Given the description of an element on the screen output the (x, y) to click on. 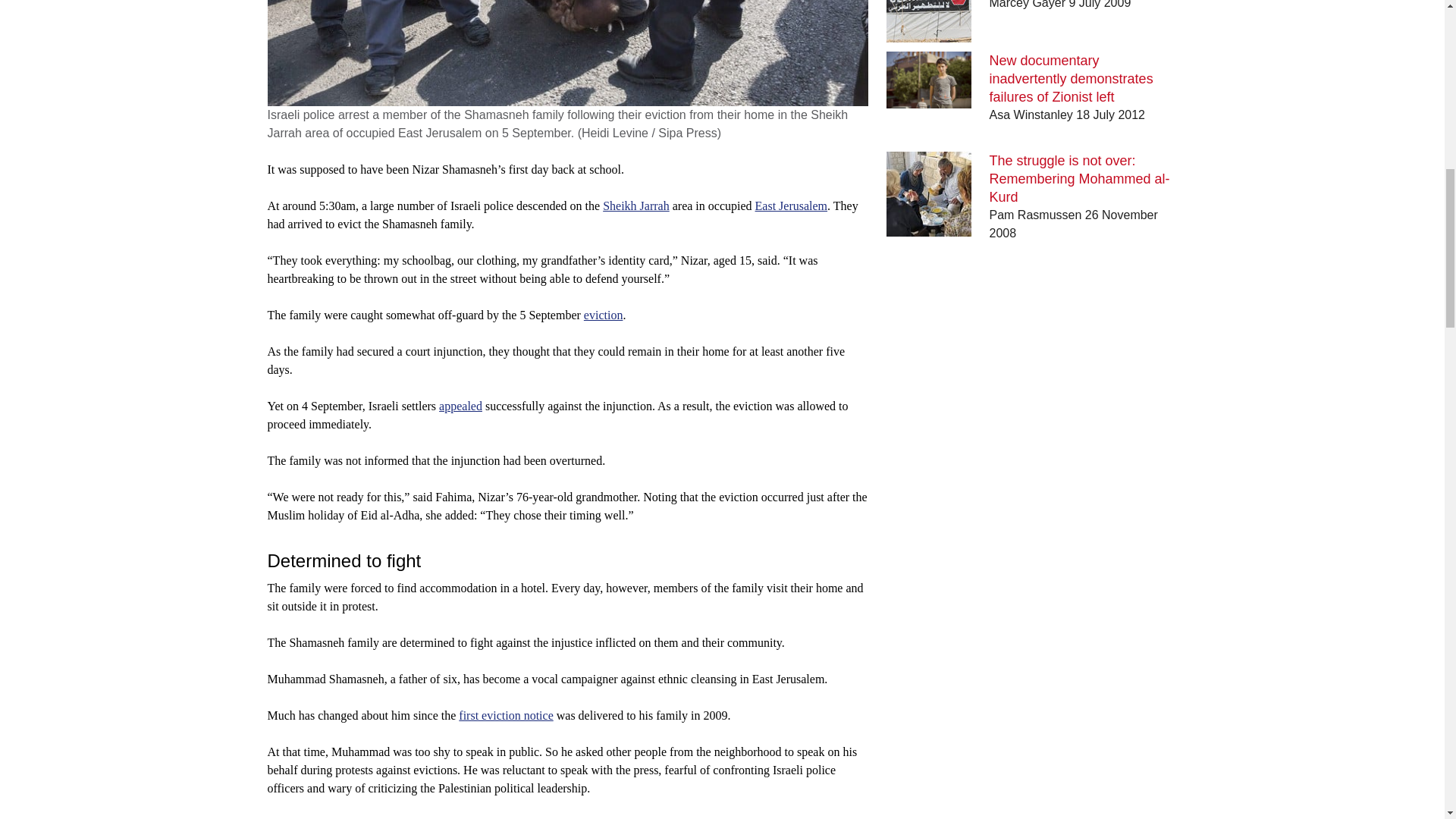
Sheikh Jarrah (635, 205)
eviction (603, 314)
first eviction notice (505, 715)
appealed (460, 405)
East Jerusalem (791, 205)
